Given the description of an element on the screen output the (x, y) to click on. 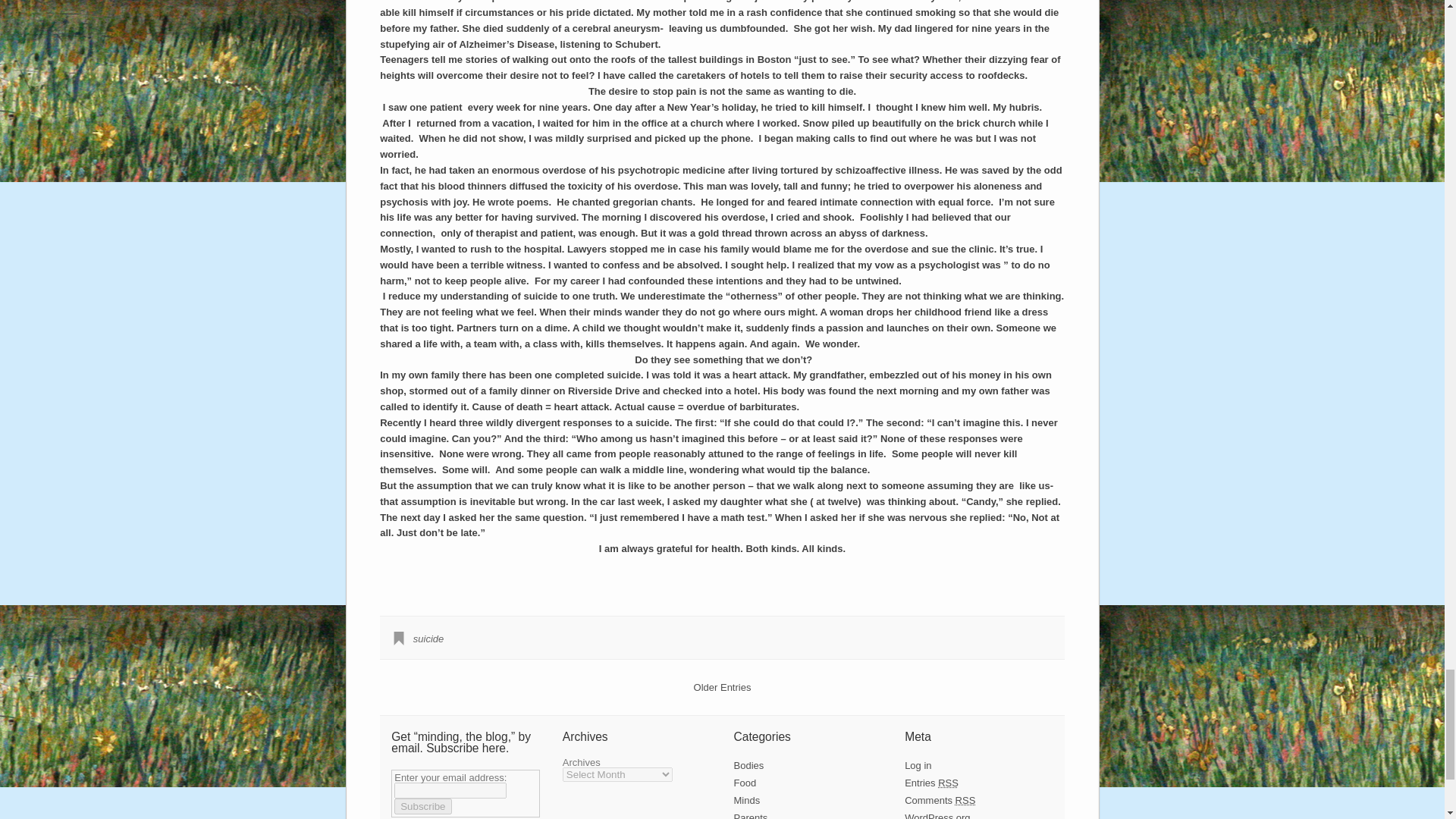
Really Simple Syndication (965, 799)
Really Simple Syndication (947, 782)
Subscribe (422, 806)
